Given the description of an element on the screen output the (x, y) to click on. 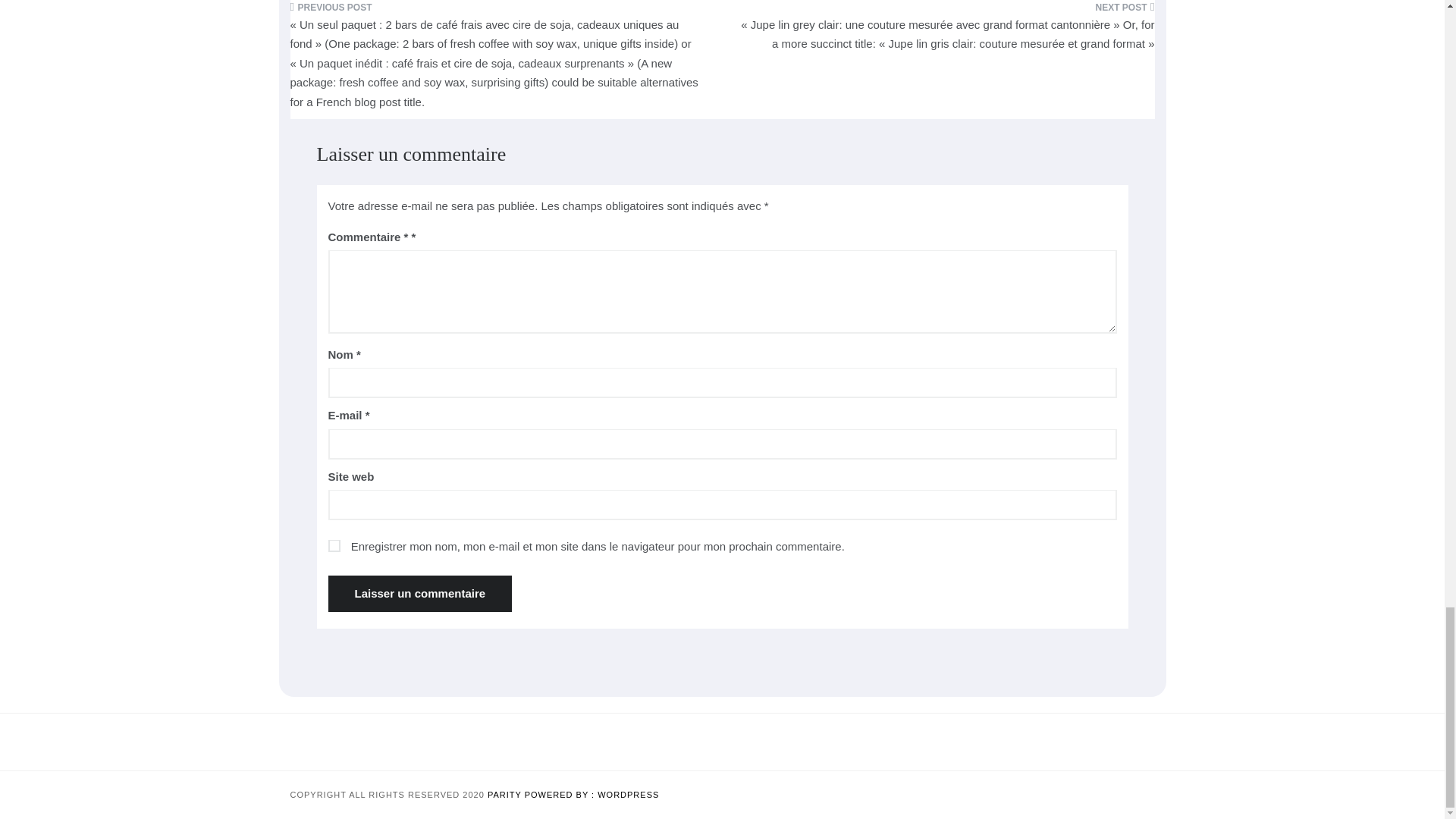
POWERED BY : WORDPRESS (591, 794)
PARITY (505, 794)
yes (333, 545)
Laisser un commentaire (419, 593)
Laisser un commentaire (419, 593)
